Given the description of an element on the screen output the (x, y) to click on. 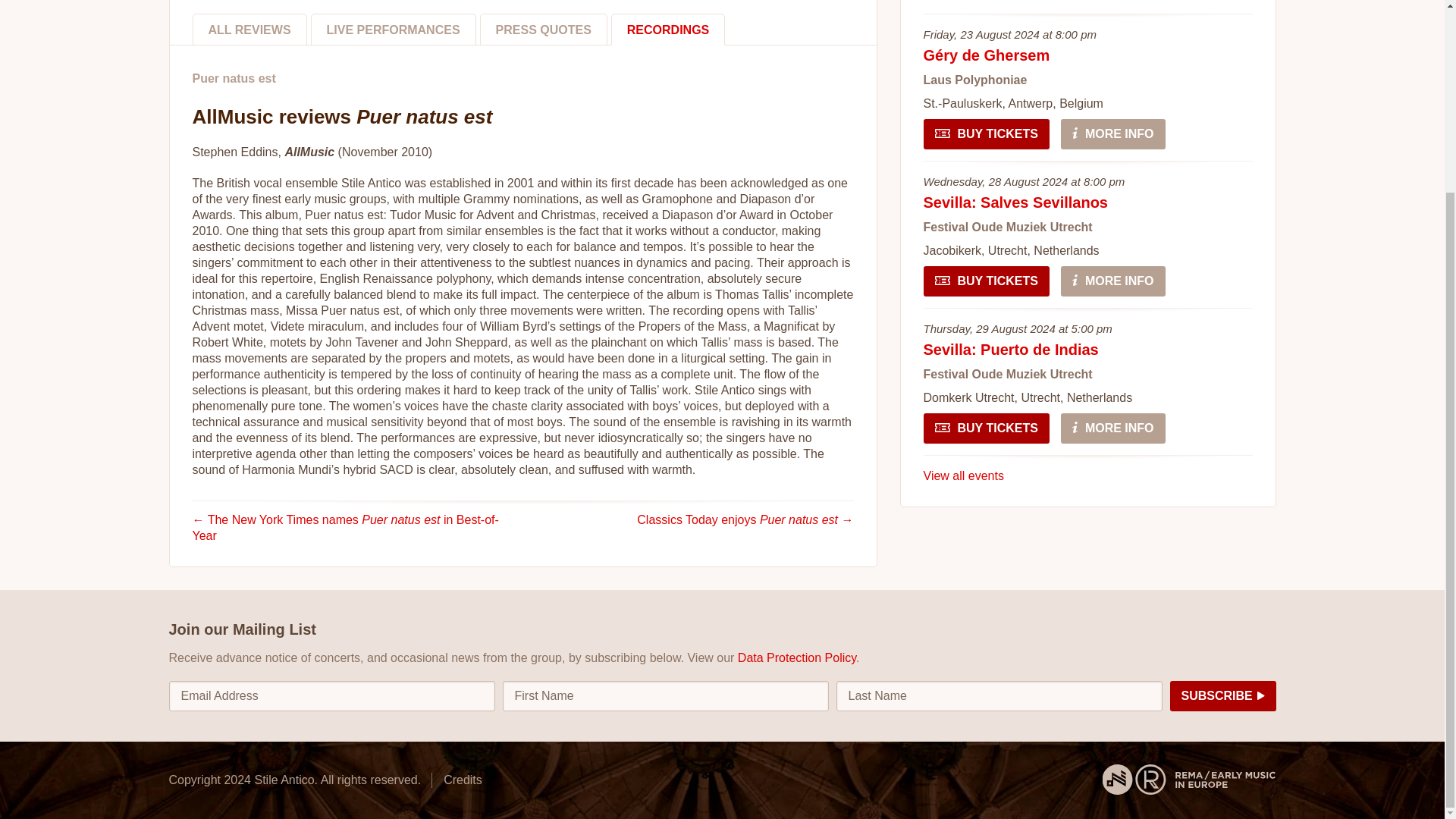
MORE INFO (1113, 428)
Permanent Link to 'Sevilla: Puerto de Indias' (1011, 349)
MORE INFO (1113, 133)
Email Address (331, 695)
Data Protection Policy (797, 657)
First Name (665, 695)
Sevilla: Puerto de Indias (1011, 349)
LIVE PERFORMANCES (393, 29)
Sevilla: Salves Sevillanos (1015, 202)
RECORDINGS (668, 29)
Last Name (998, 695)
BUY TICKETS (986, 281)
ALL REVIEWS (249, 29)
Puer natus est (234, 78)
BUY TICKETS (986, 133)
